Given the description of an element on the screen output the (x, y) to click on. 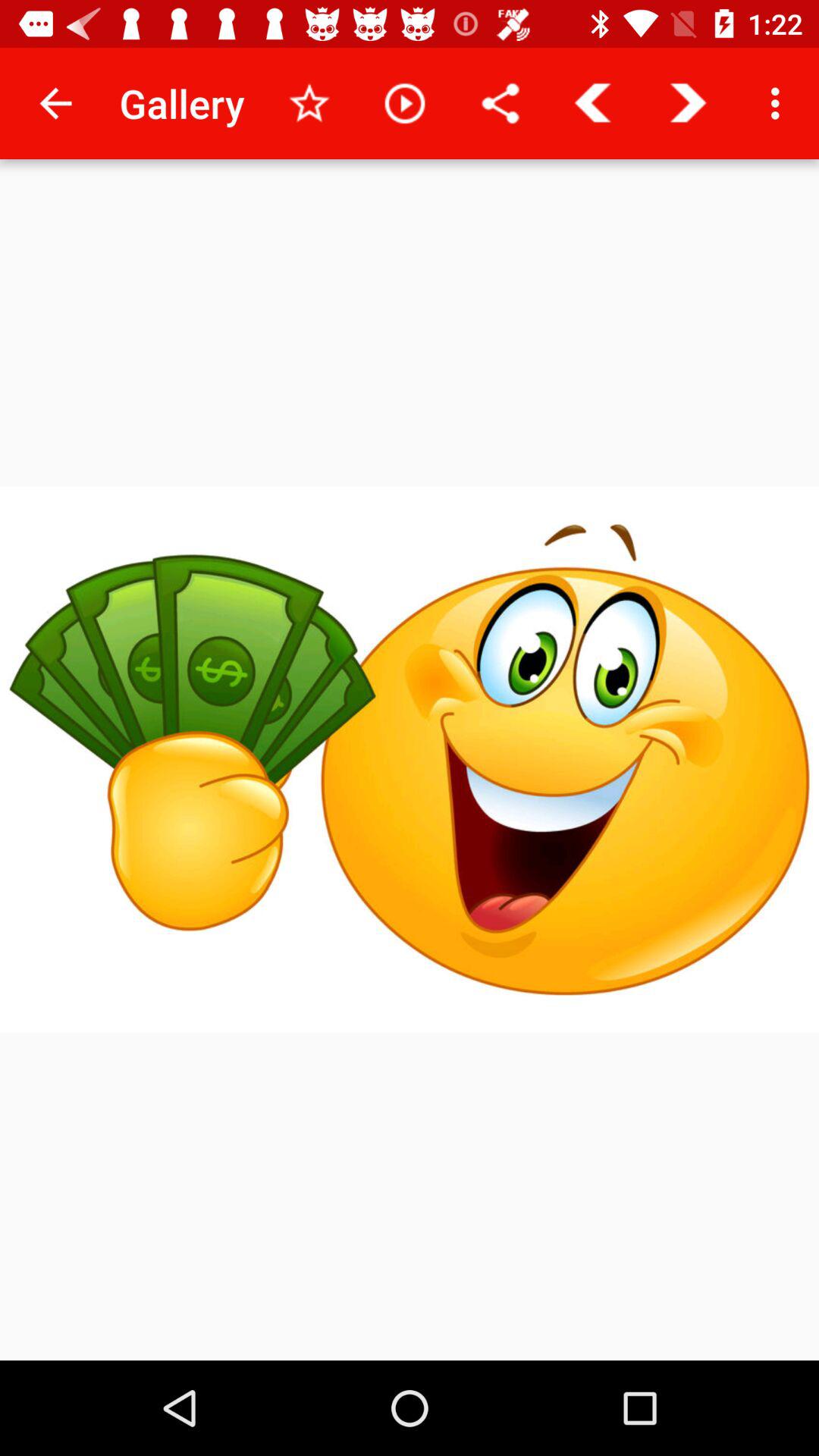
tap the icon to the left of gallery item (55, 103)
